Given the description of an element on the screen output the (x, y) to click on. 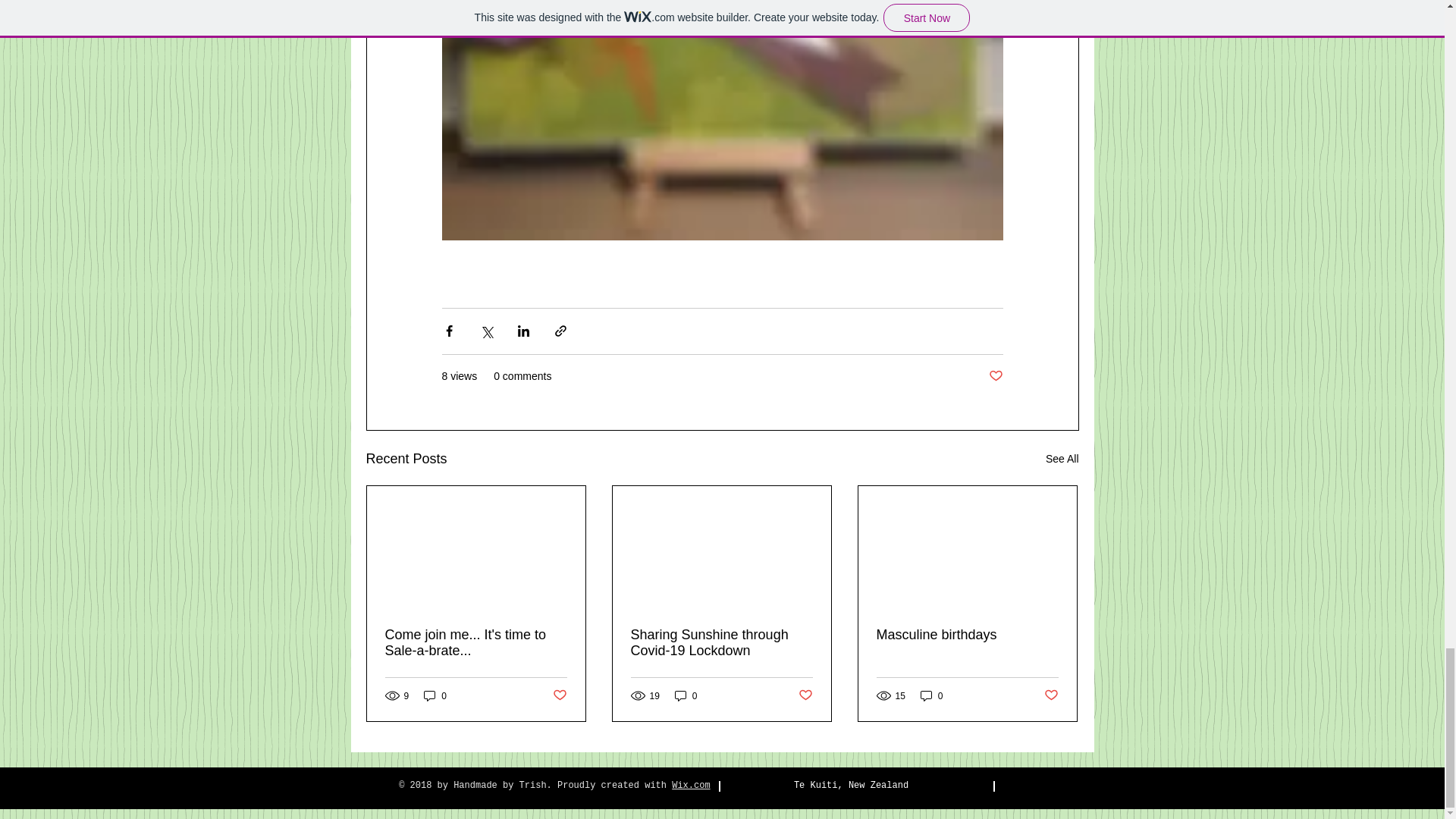
0 (435, 695)
Post not marked as liked (804, 695)
Post not marked as liked (995, 376)
Sharing Sunshine through Covid-19 Lockdown (721, 643)
Post not marked as liked (558, 695)
See All (1061, 458)
Come join me... It's time to Sale-a-brate... (476, 643)
0 (685, 695)
